Given the description of an element on the screen output the (x, y) to click on. 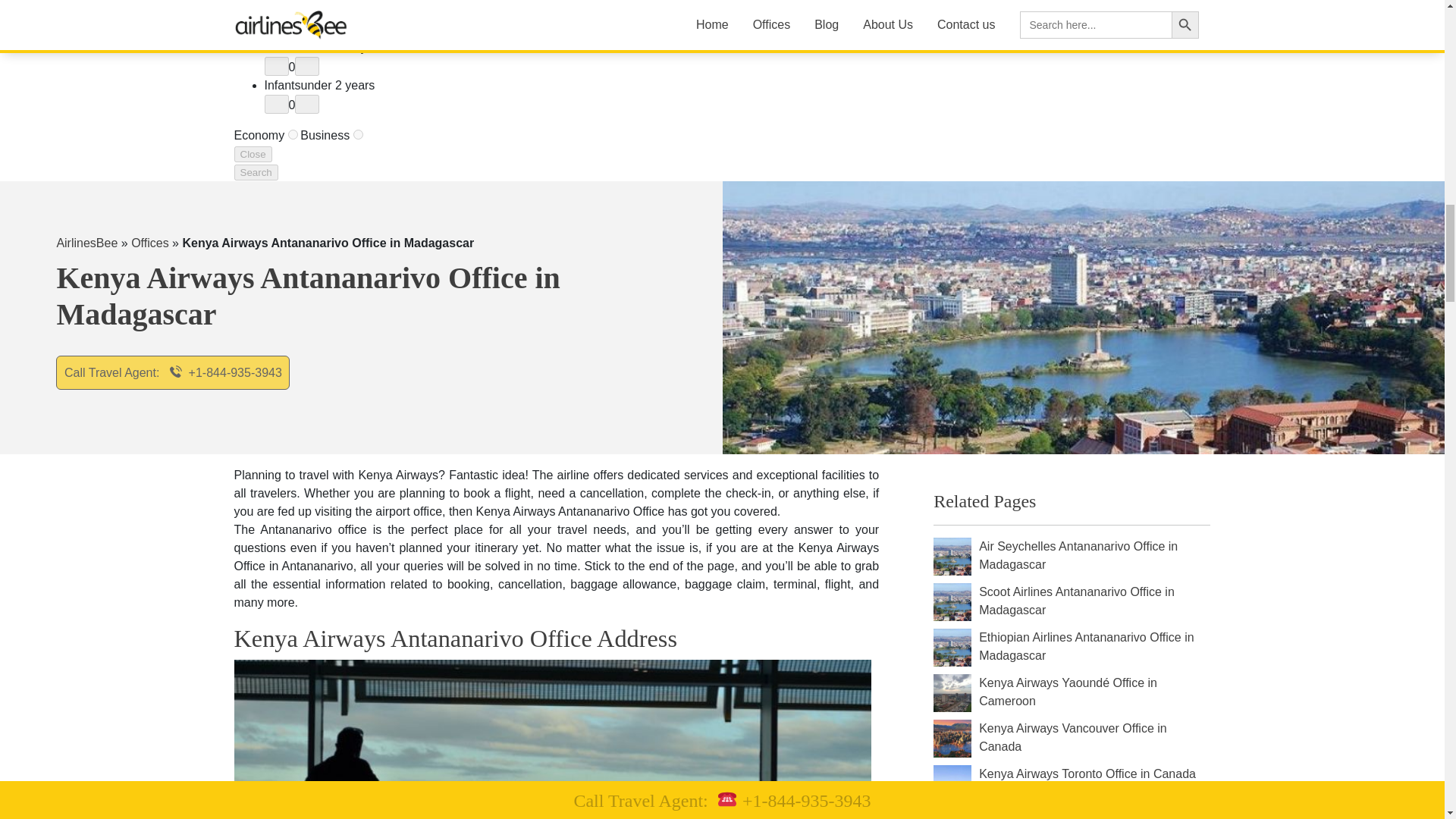
AirlinesBee (86, 242)
Offices (149, 242)
Scoot Airlines Antananarivo Office in Madagascar (1093, 601)
Kenya Airways Toronto Office in Canada (1086, 783)
Kenya Airways Tokyo Office in Japan (1077, 814)
Kenya Airways Vancouver Office in Canada (1093, 738)
Ethiopian Airlines Antananarivo Office in Madagascar (1093, 647)
Air Seychelles Antananarivo Office in Madagascar (1093, 556)
